Given the description of an element on the screen output the (x, y) to click on. 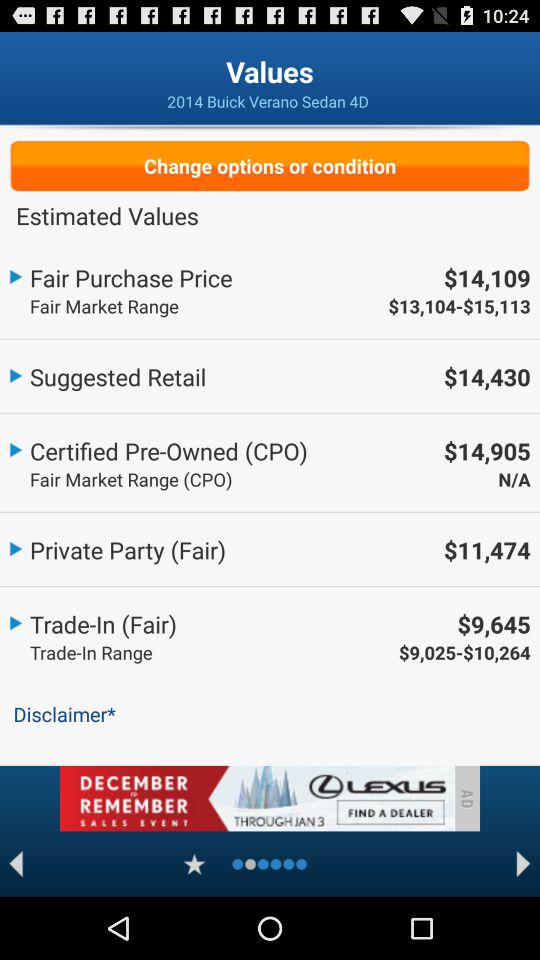
save to favorite (194, 864)
